Given the description of an element on the screen output the (x, y) to click on. 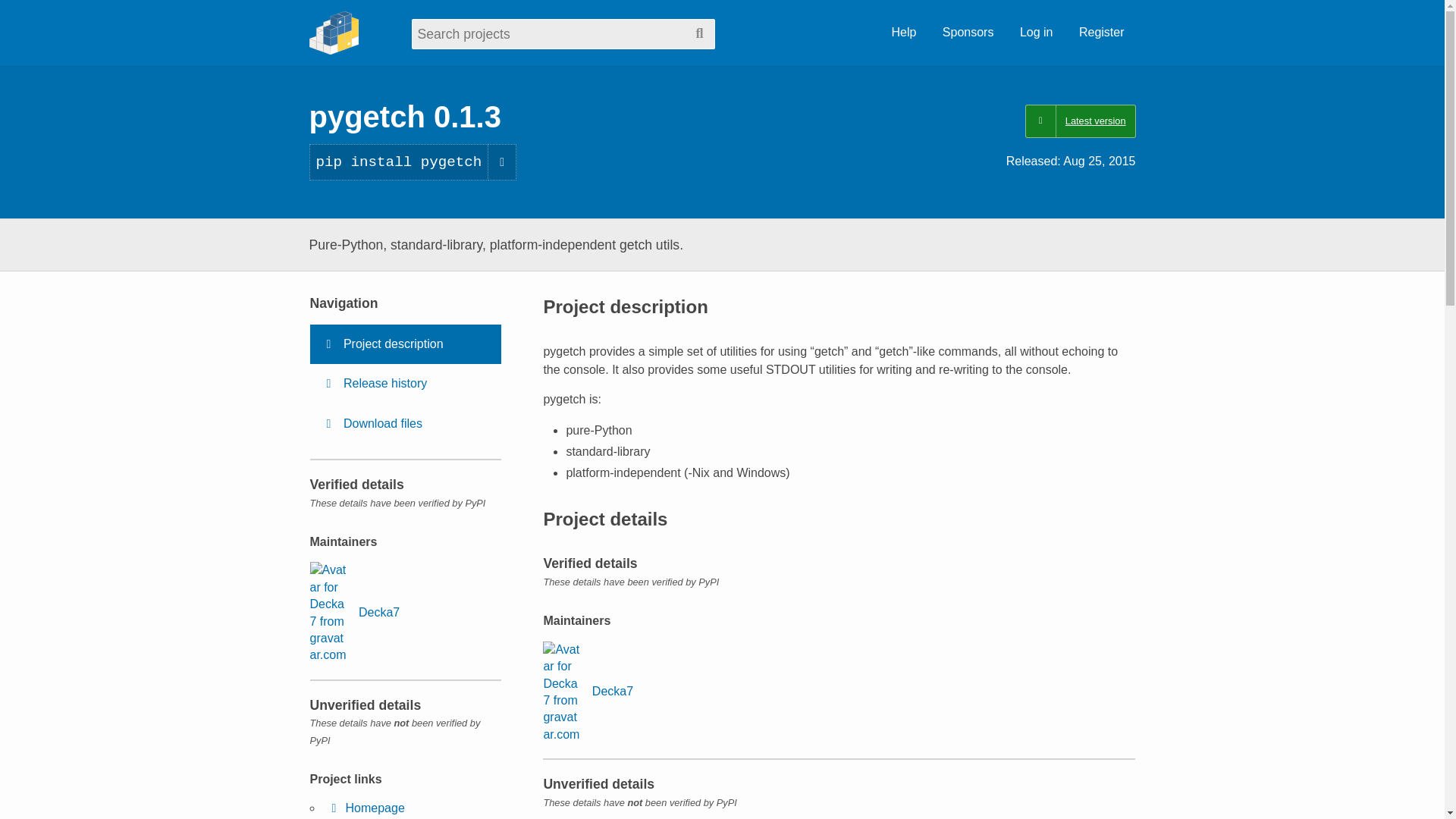
Download files (404, 423)
Search (699, 33)
Latest version (1080, 121)
Project description (404, 343)
Homepage (365, 807)
Register (1101, 32)
Release history (404, 383)
Sponsors (968, 32)
